Given the description of an element on the screen output the (x, y) to click on. 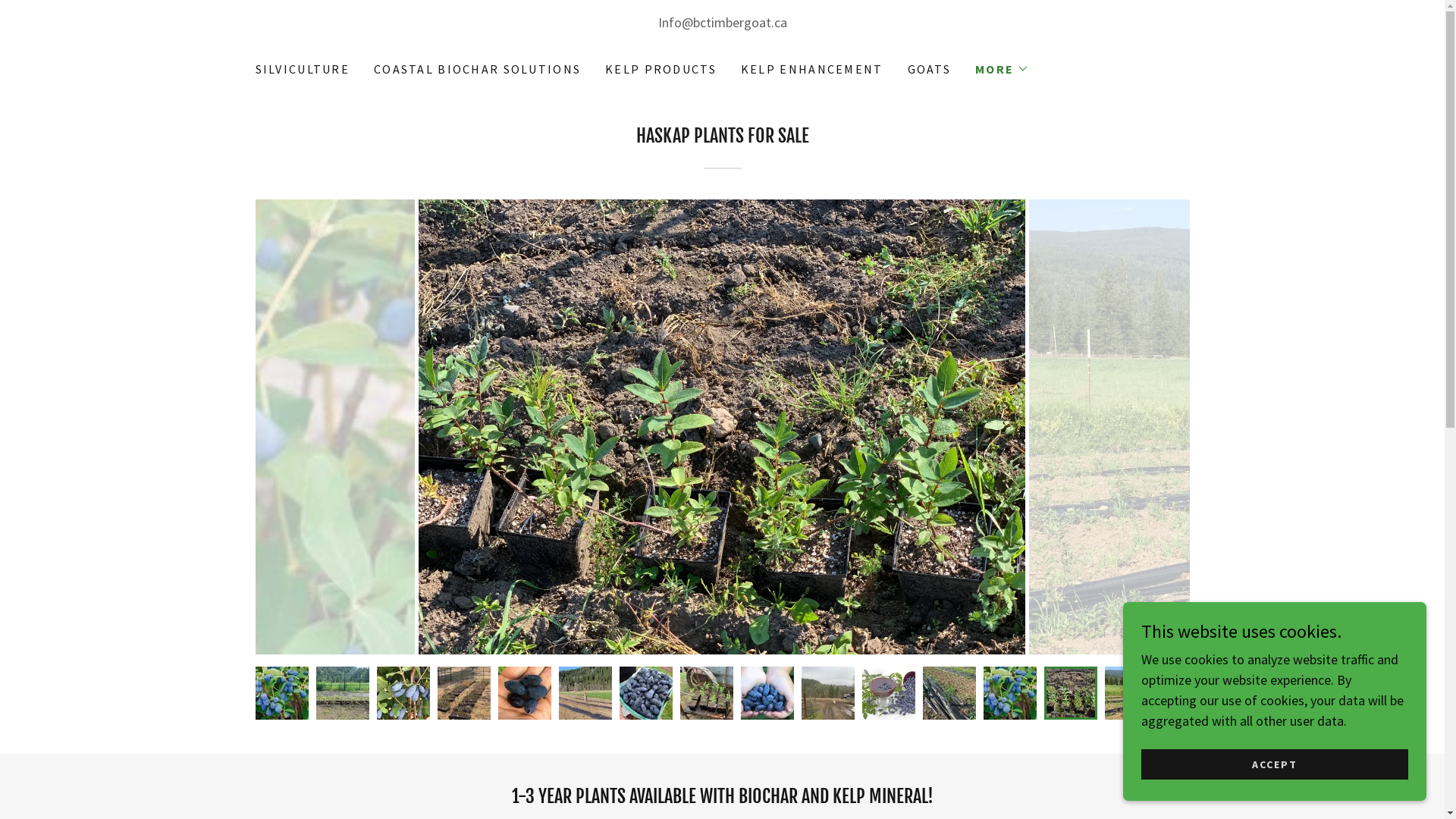
MORE Element type: text (1002, 68)
GOATS Element type: text (929, 68)
KELP PRODUCTS Element type: text (660, 68)
KELP ENHANCEMENT Element type: text (812, 68)
ACCEPT Element type: text (1274, 764)
SILVICULTURE Element type: text (301, 68)
COASTAL BIOCHAR SOLUTIONS Element type: text (477, 68)
